Given the description of an element on the screen output the (x, y) to click on. 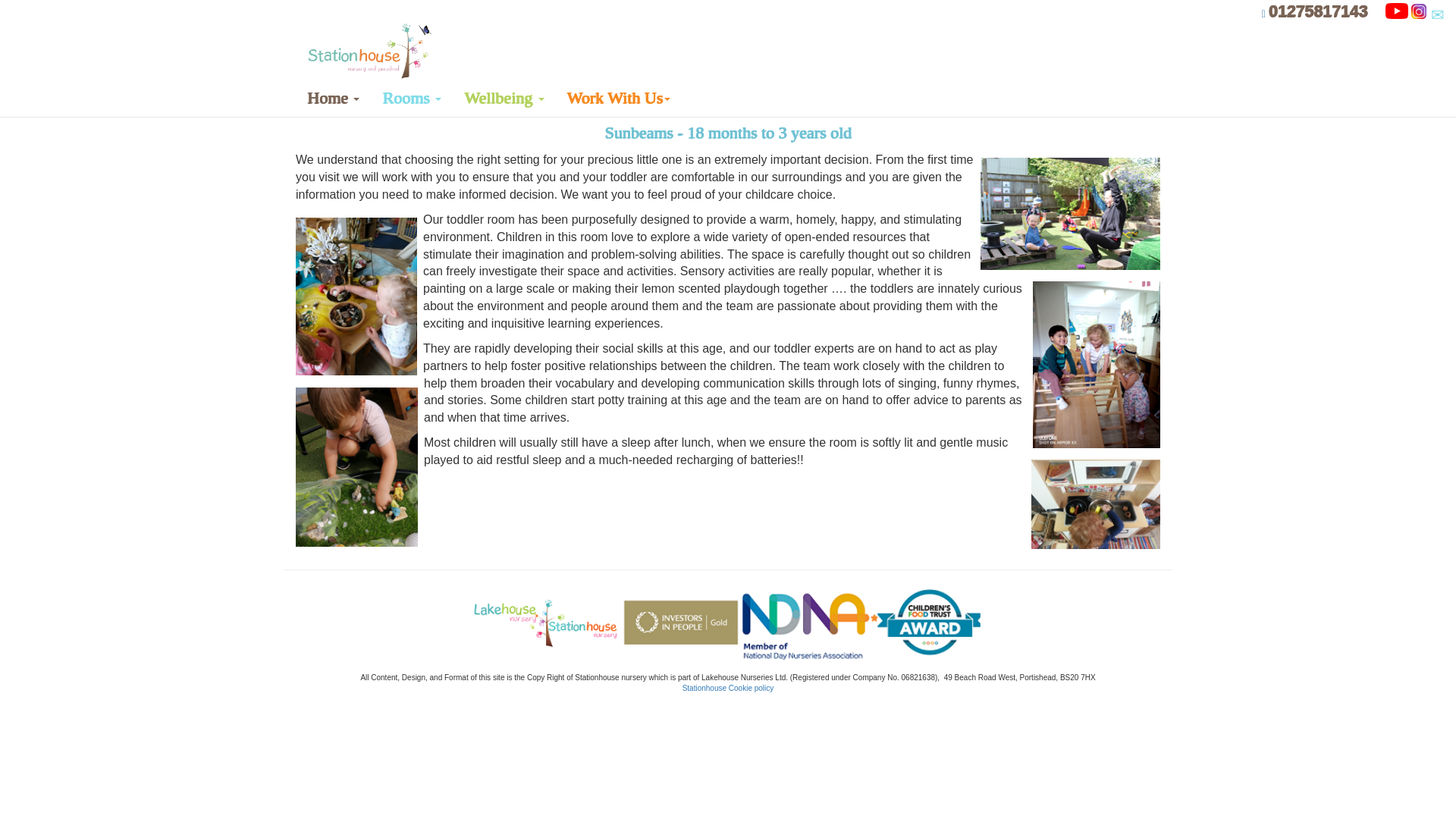
Rooms (411, 97)
Home (367, 50)
Home (333, 97)
Work With Us (617, 97)
YouTube (1396, 10)
01275817143 (1322, 12)
Wellbeing (503, 97)
Contact Us (1436, 15)
Instagram (1418, 11)
